Given the description of an element on the screen output the (x, y) to click on. 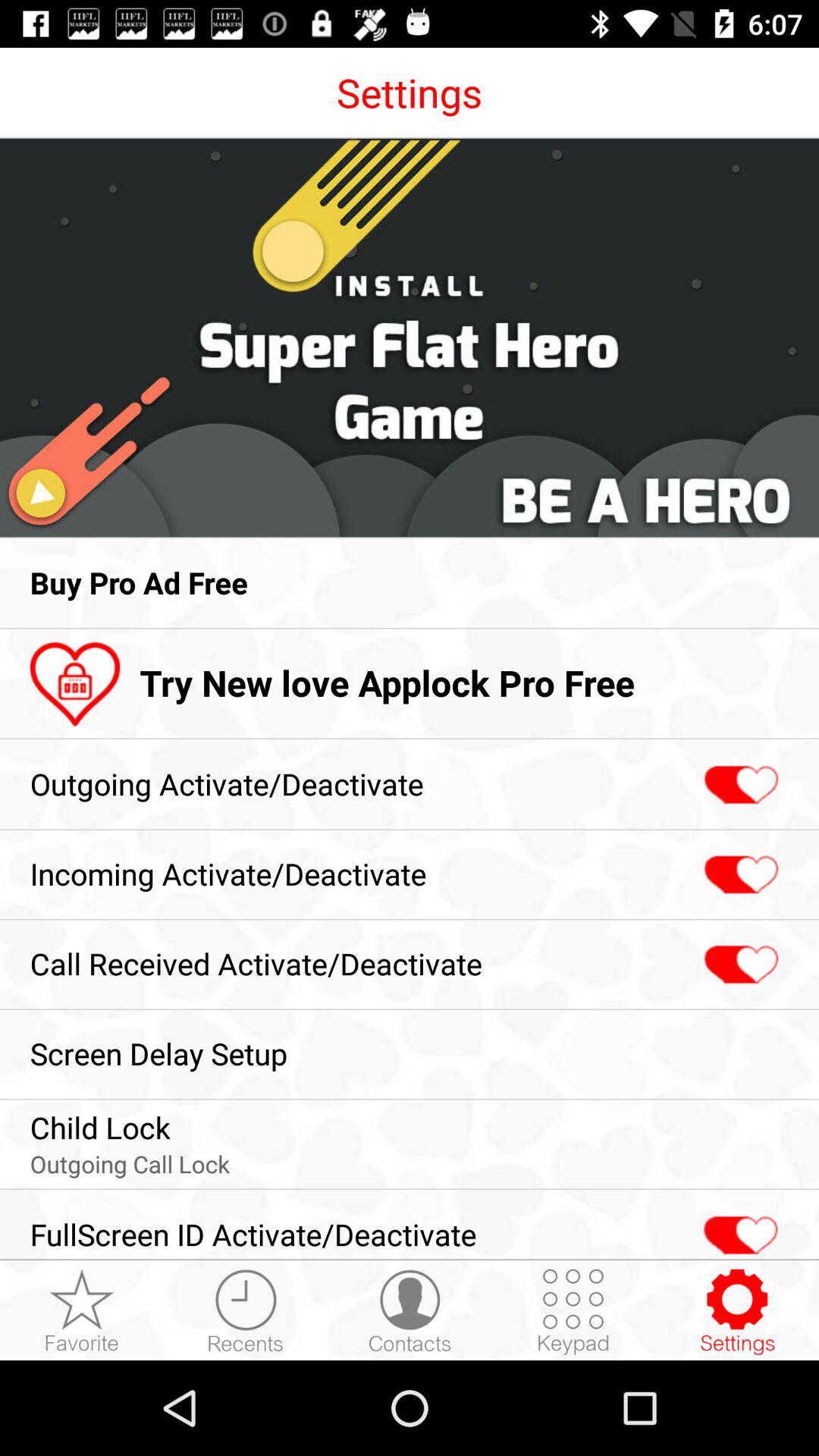
choose icon next to incoming activate/deactivate (739, 875)
